Given the description of an element on the screen output the (x, y) to click on. 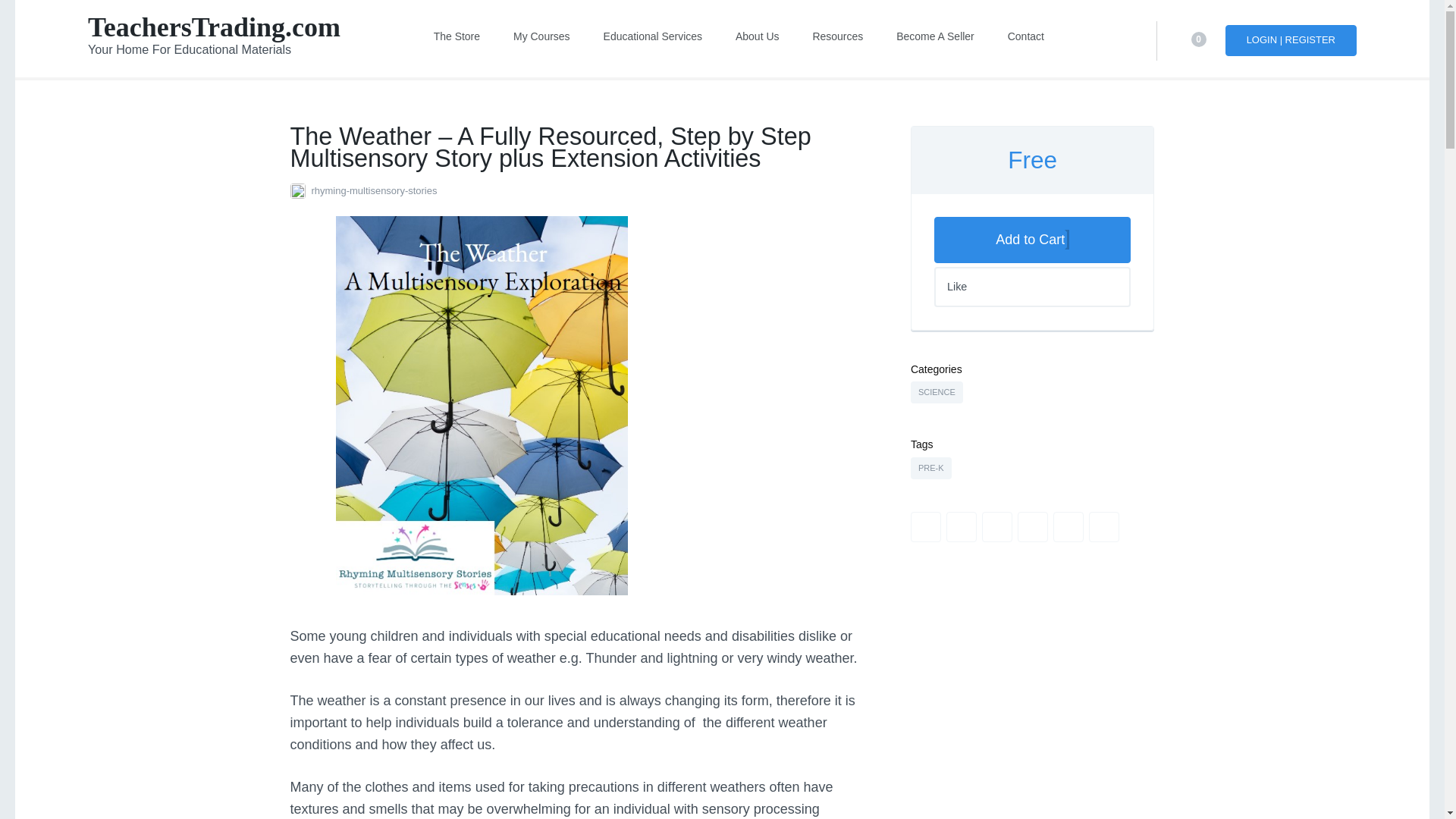
TeachersTrading.com (213, 27)
The Store (456, 36)
View all posts by rhyming-multisensory-stories (577, 190)
Contact (1025, 36)
About Us (756, 36)
Resources (837, 36)
My Courses (541, 36)
Become A Seller (935, 36)
rhyming-multisensory-stories (577, 190)
Educational Services (652, 36)
